Given the description of an element on the screen output the (x, y) to click on. 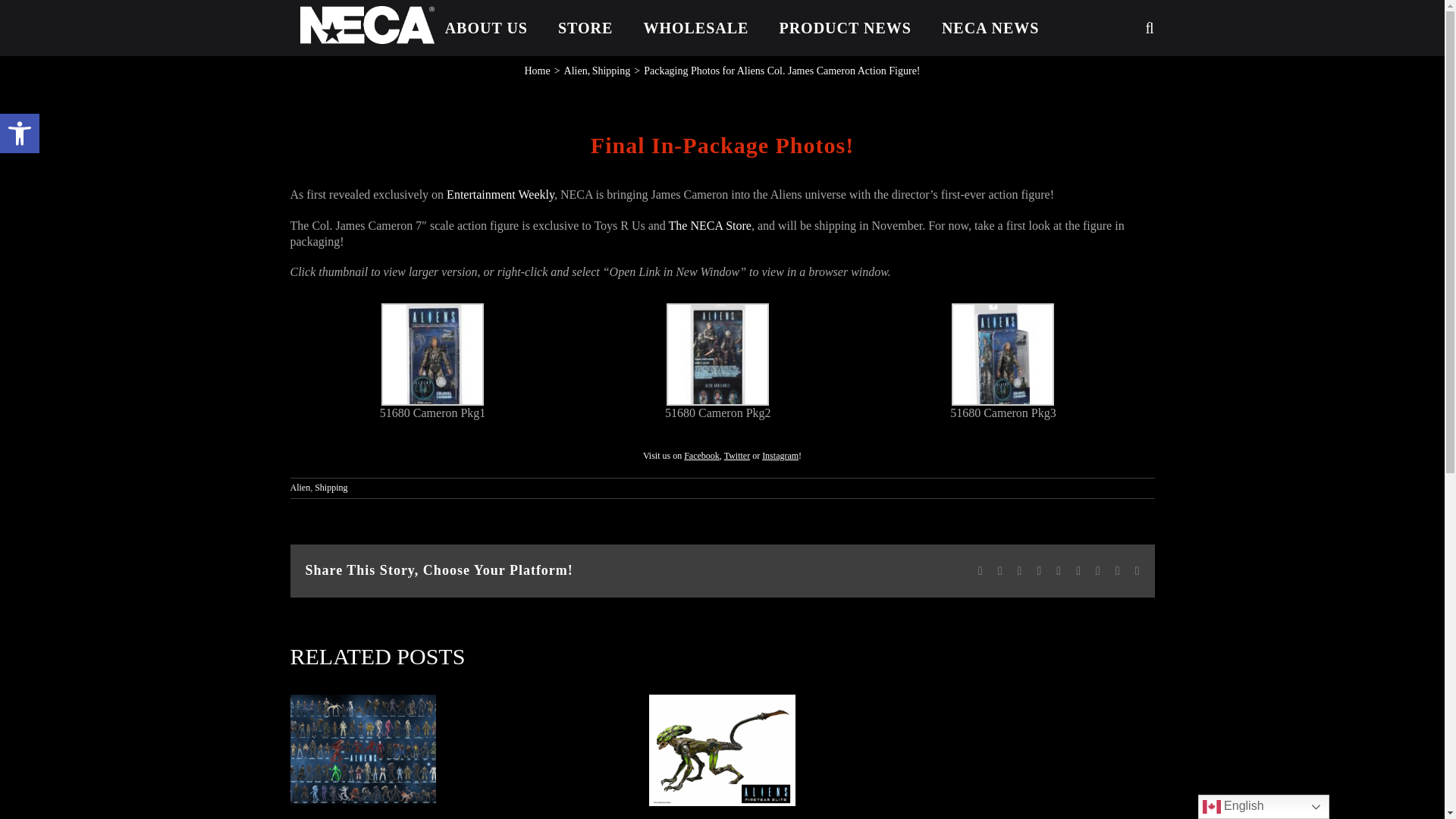
Open toolbar (19, 133)
ABOUT US (486, 28)
PRODUCT NEWS (844, 28)
Search (1111, 28)
NECA NEWS (990, 28)
51680 Cameron  Pkg2 (717, 309)
NECAOnline.com (366, 24)
WHOLESALE (695, 28)
51680 Cameron  Pkg1 (432, 309)
51680 Cameron  Pkg3 (1003, 309)
STORE (584, 28)
